Given the description of an element on the screen output the (x, y) to click on. 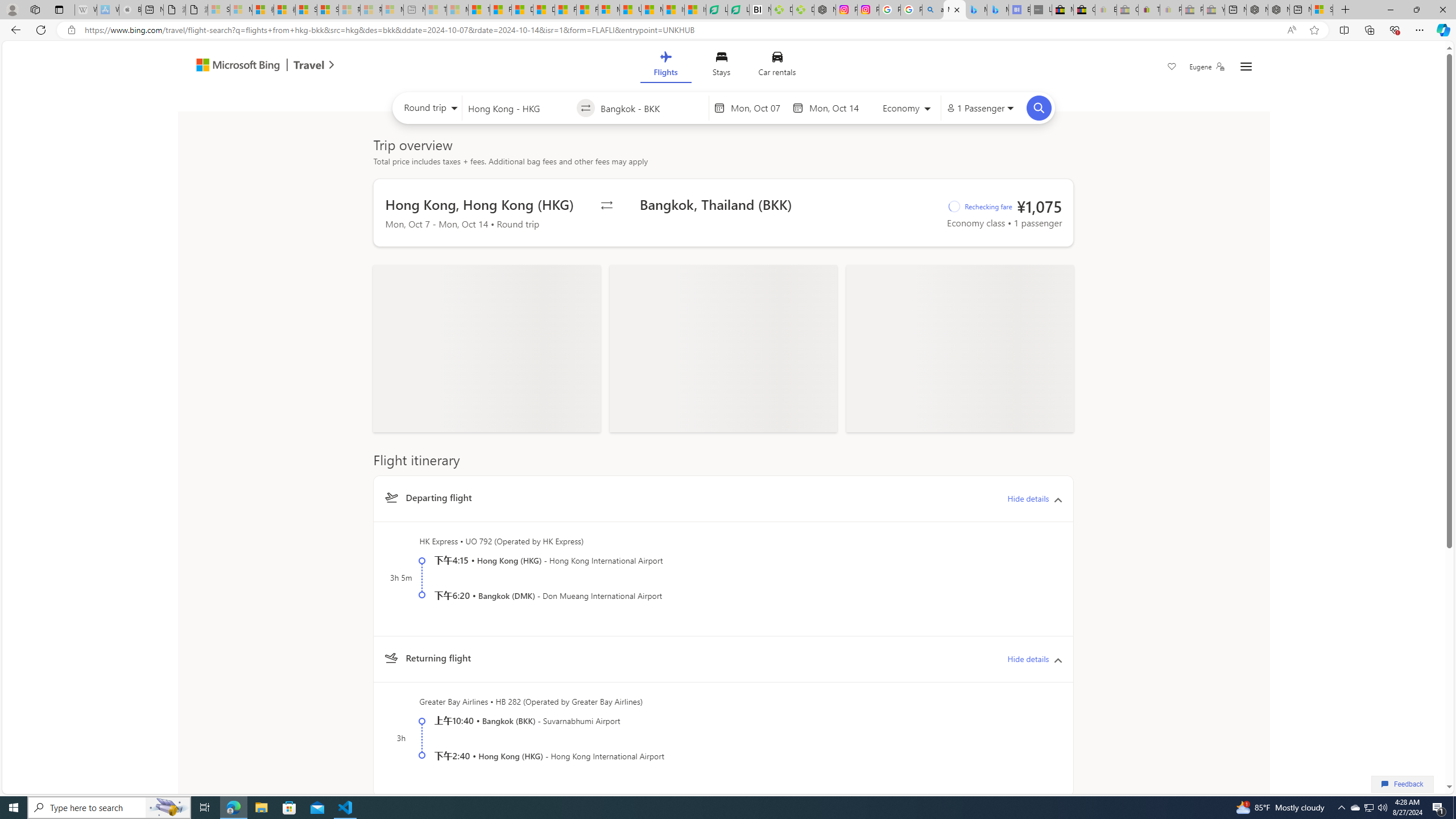
Save (1171, 67)
Class: msft-bing-logo msft-bing-logo-desktop (234, 64)
Food and Drink - MSN (500, 9)
Flights (665, 65)
Flight logo (390, 658)
Class: autosuggest-container full-height no-y-padding (651, 107)
Payments Terms of Use | eBay.com - Sleeping (1170, 9)
Descarga Driver Updater (802, 9)
Stays (720, 65)
